Given the description of an element on the screen output the (x, y) to click on. 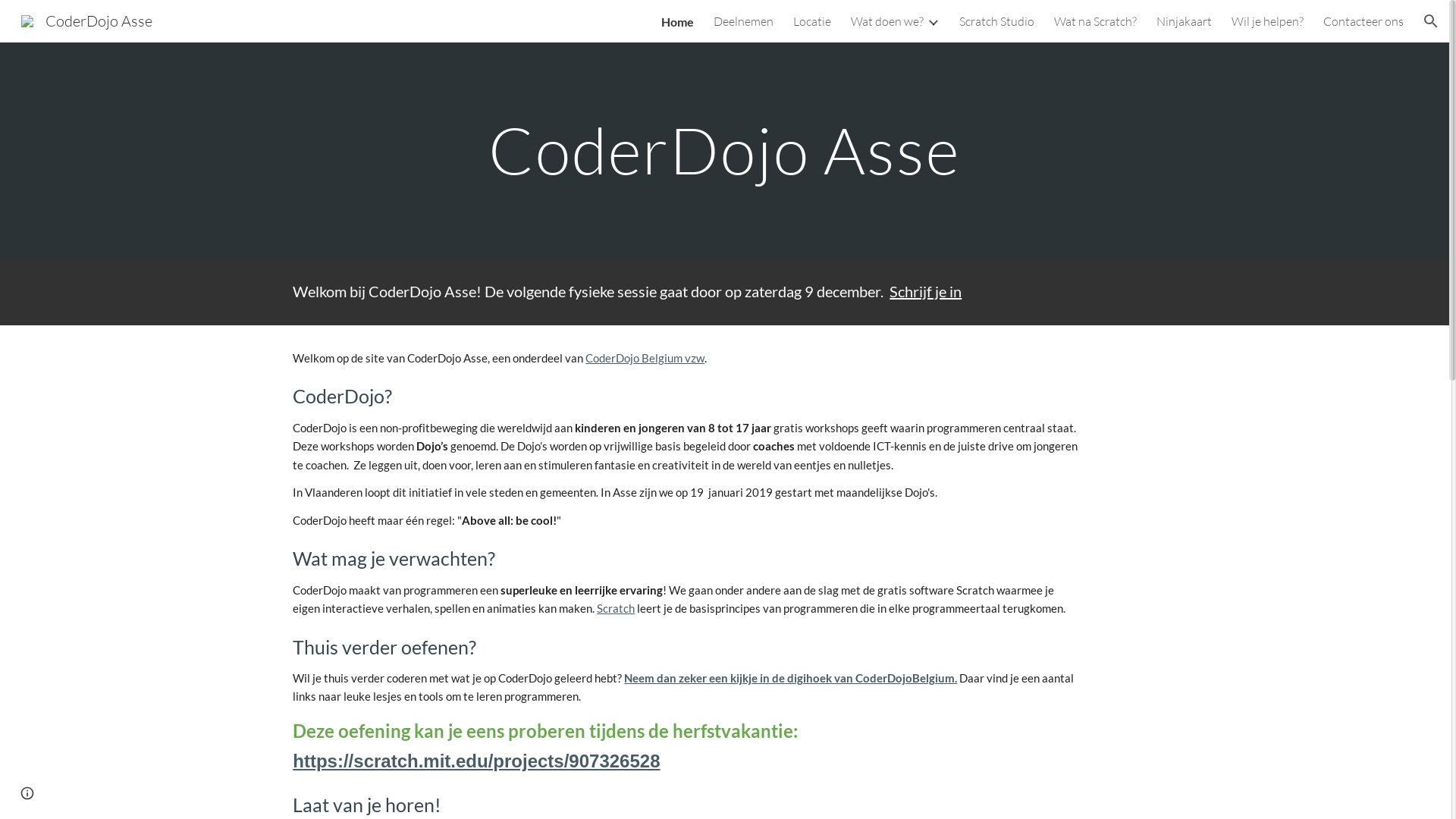
Schrijf je in Element type: text (925, 291)
Wat doen we? Element type: text (886, 20)
Wat na Scratch? Element type: text (1095, 20)
Scratch Element type: text (615, 608)
Scratch Studio Element type: text (996, 20)
https://scratch.mit.edu/projects/907326528 Element type: text (475, 762)
Expand/Collapse Element type: hover (932, 20)
Contacteer ons Element type: text (1363, 20)
CoderDojo Asse Element type: text (86, 18)
Home Element type: text (677, 20)
CoderDojo Belgium vzw Element type: text (644, 357)
Deelnemen Element type: text (743, 20)
Ninjakaart Element type: text (1183, 20)
Locatie Element type: text (812, 20)
Wil je helpen? Element type: text (1267, 20)
